Given the description of an element on the screen output the (x, y) to click on. 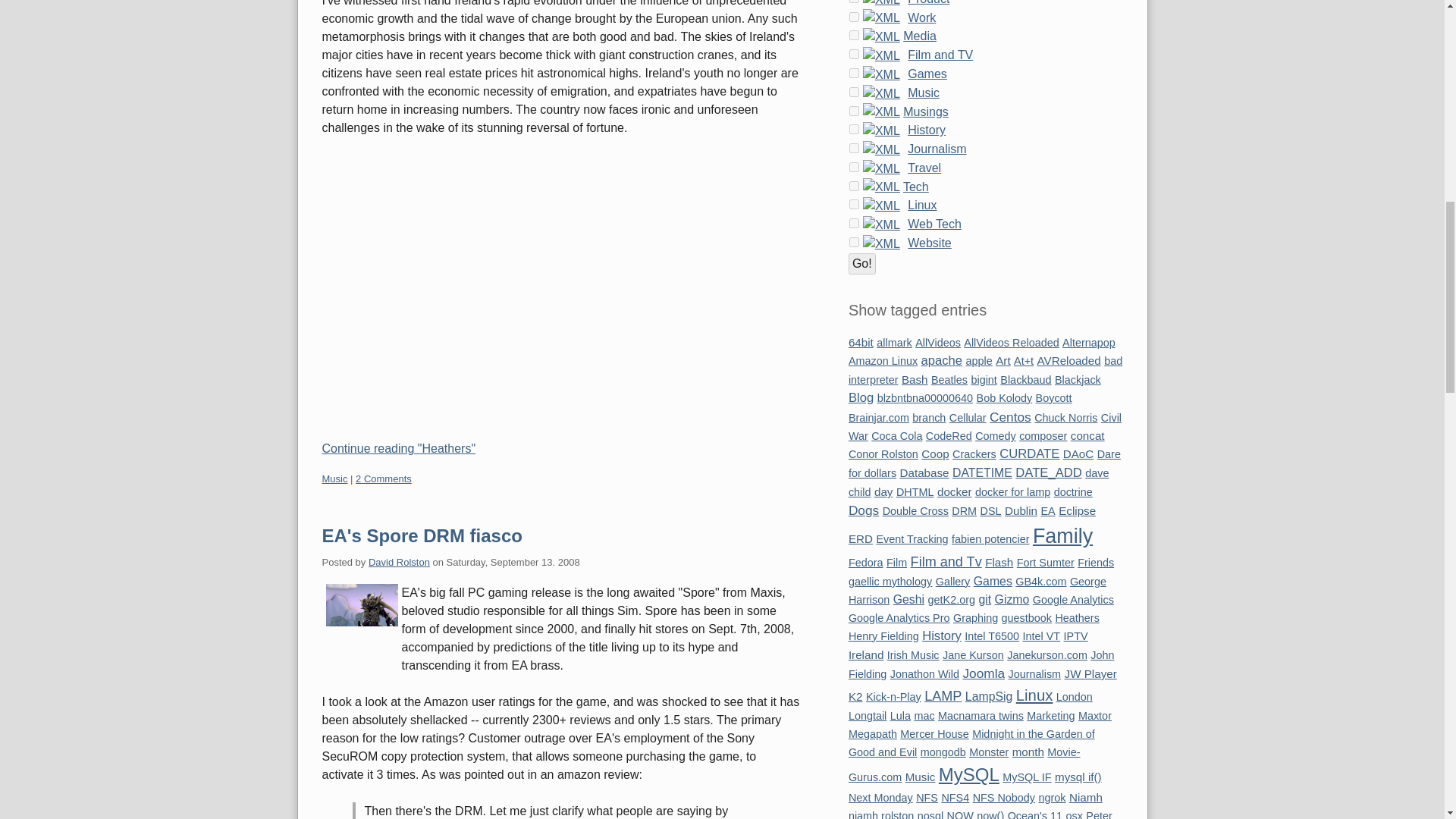
Go! (862, 263)
17 (854, 72)
12 (854, 166)
1 (854, 185)
2 Comments, 0 Trackbacks (383, 478)
2 Comments (383, 478)
14 (854, 91)
11 (854, 148)
7 (854, 242)
Continue reading "Heathers" (560, 448)
8 (854, 223)
15 (854, 1)
9 (854, 17)
10 (854, 204)
16 (854, 53)
